Given the description of an element on the screen output the (x, y) to click on. 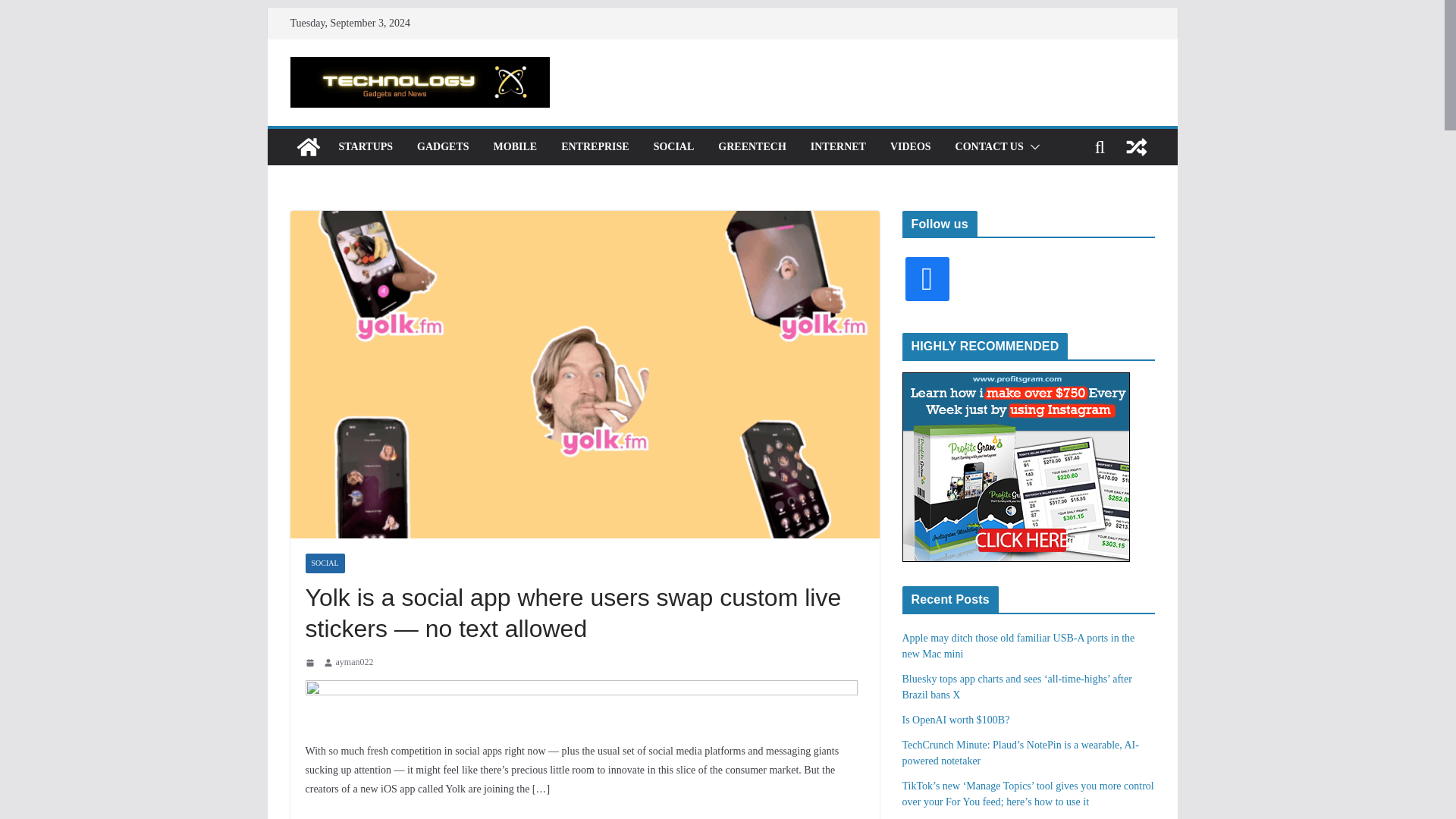
CONTACT US (989, 147)
SOCIAL (323, 563)
View a random post (1136, 146)
ayman022 (353, 662)
6:28 pm (310, 662)
INTERNET (838, 147)
VIDEOS (910, 147)
GREENTECH (751, 147)
Technology Gadget News (307, 146)
SOCIAL (673, 147)
